Given the description of an element on the screen output the (x, y) to click on. 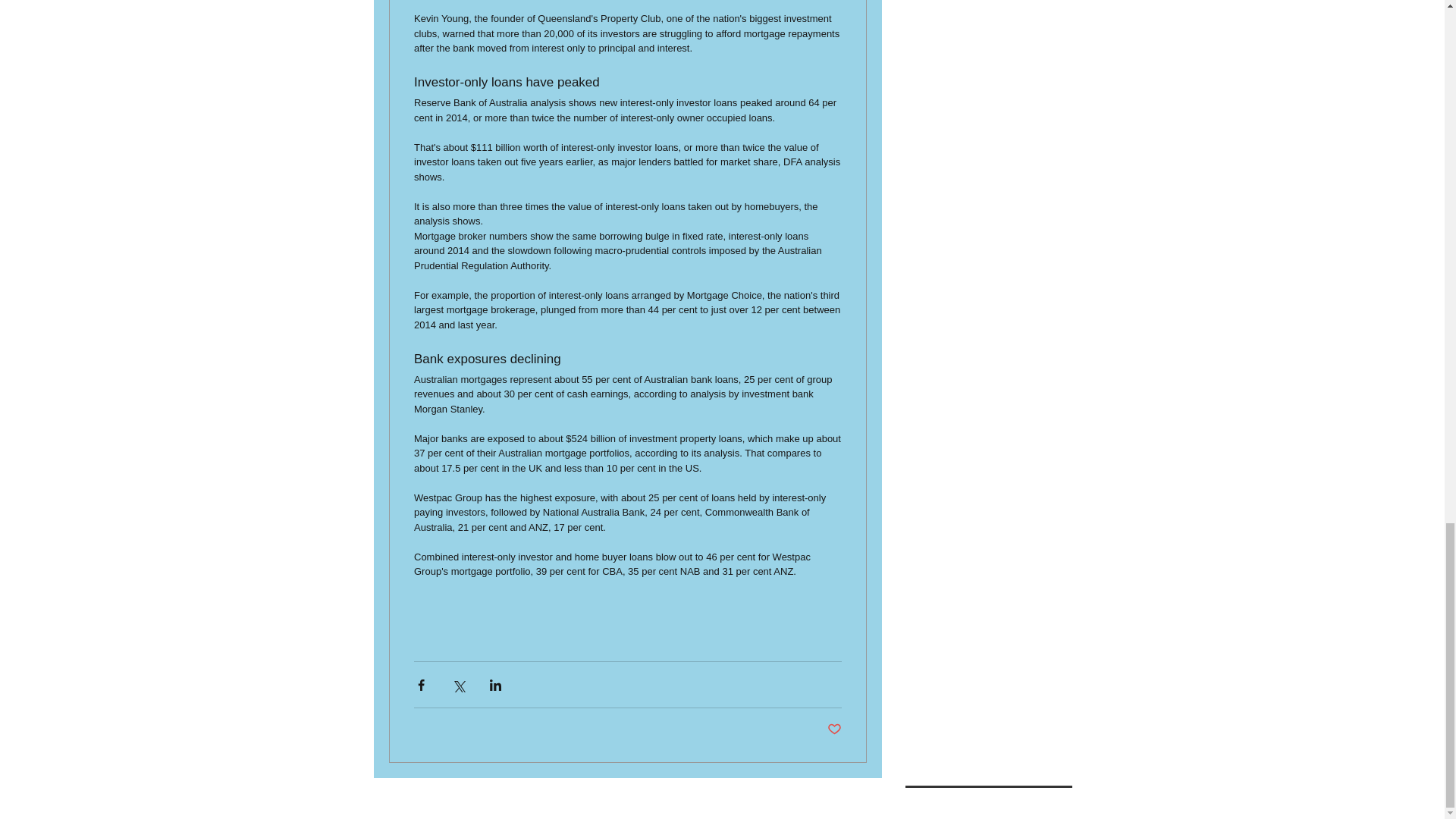
Post not marked as liked (834, 729)
